Given the description of an element on the screen output the (x, y) to click on. 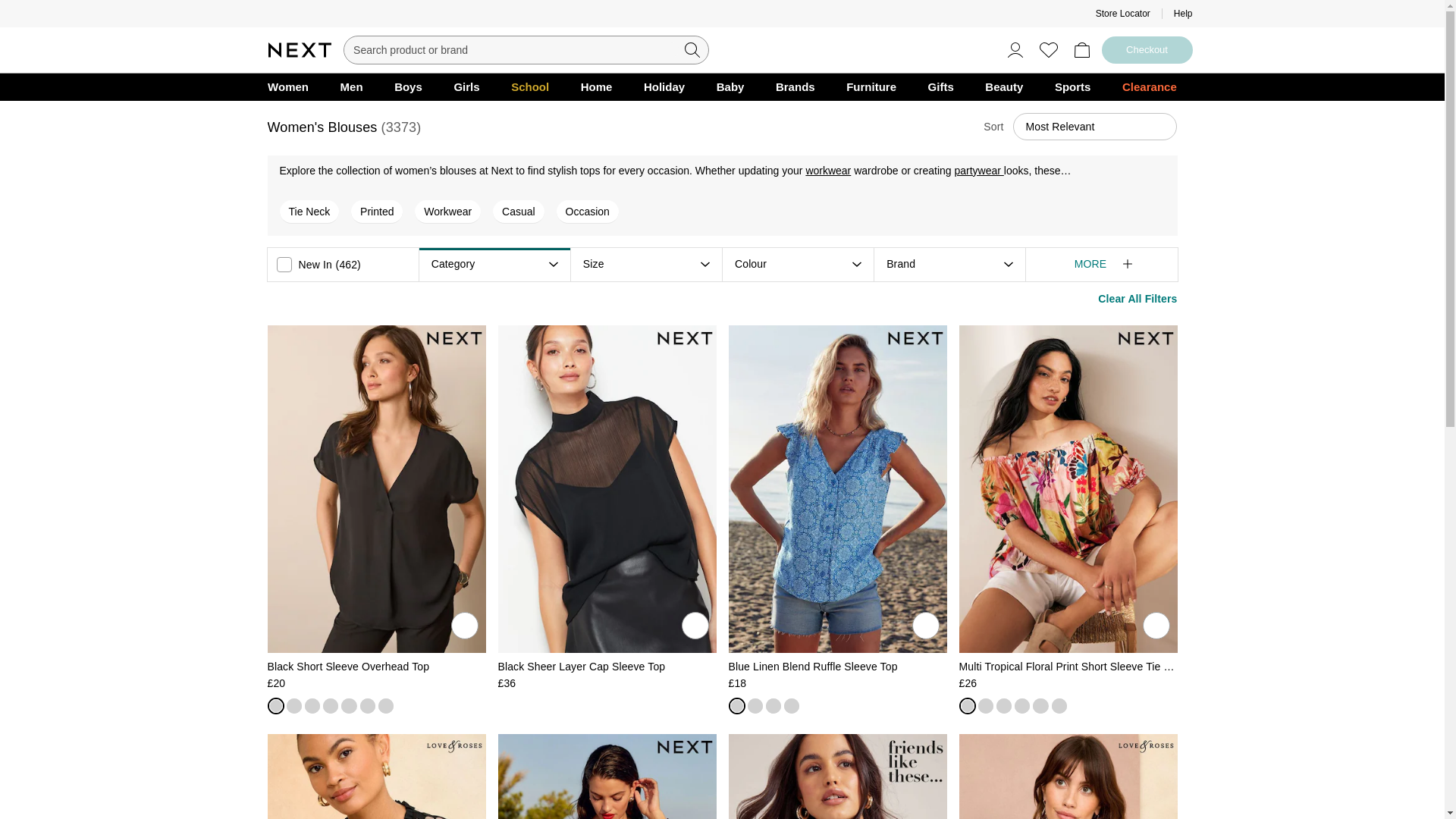
Clearance (1149, 86)
Brands (795, 86)
MEN (351, 86)
BRANDS (795, 86)
Store Locator (1123, 13)
Size (593, 263)
SPORTS (1072, 86)
Women (288, 86)
Girls (466, 86)
